Given the description of an element on the screen output the (x, y) to click on. 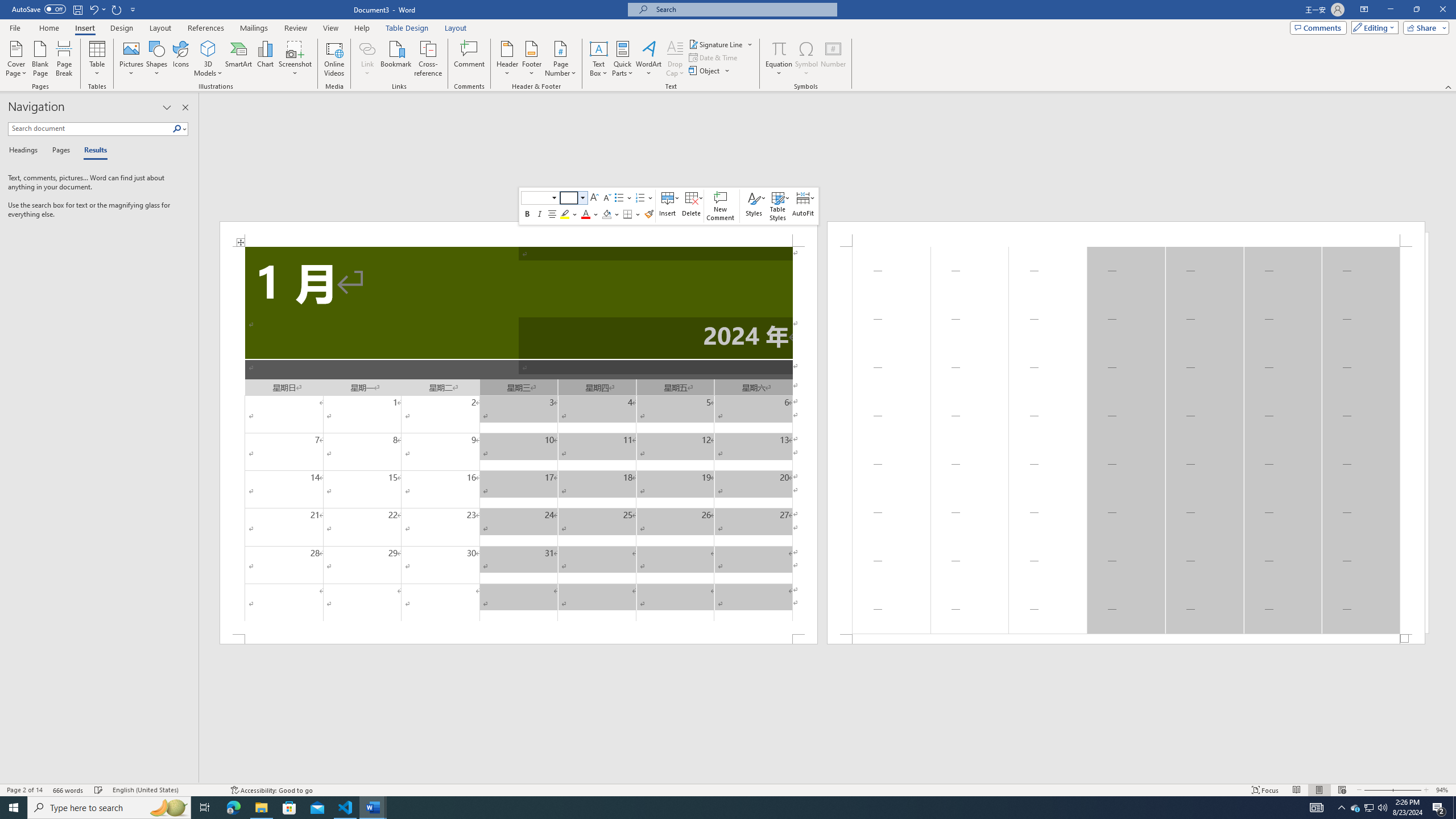
Object... (709, 69)
Search highlights icon opens search home window (167, 807)
Cross-reference... (428, 58)
Object... (705, 69)
File Explorer - 1 running window (261, 807)
Class: Net UI Tool Window (668, 205)
Number... (833, 58)
Show desktop (1454, 807)
Q2790: 100% (1382, 807)
